Given the description of an element on the screen output the (x, y) to click on. 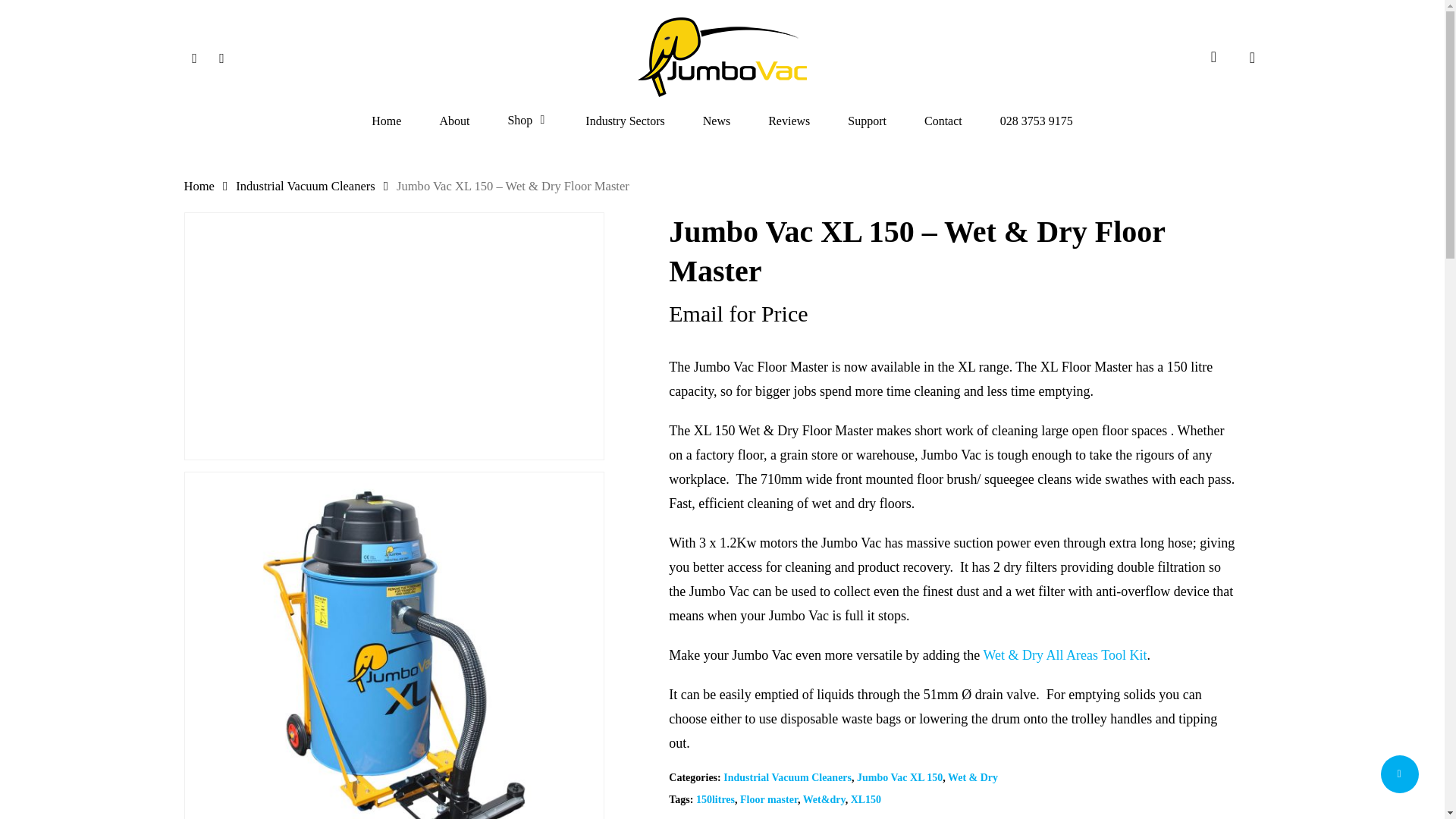
Reviews (788, 121)
Industrial Vacuum Cleaners (305, 186)
About (453, 121)
Industry Sectors (624, 121)
Home (198, 186)
Facebook (221, 57)
News (716, 121)
Shop (526, 120)
028 3753 9175 (1036, 121)
Contact (943, 121)
Twitter (194, 57)
account (1213, 57)
Support (866, 121)
Home (386, 121)
